Given the description of an element on the screen output the (x, y) to click on. 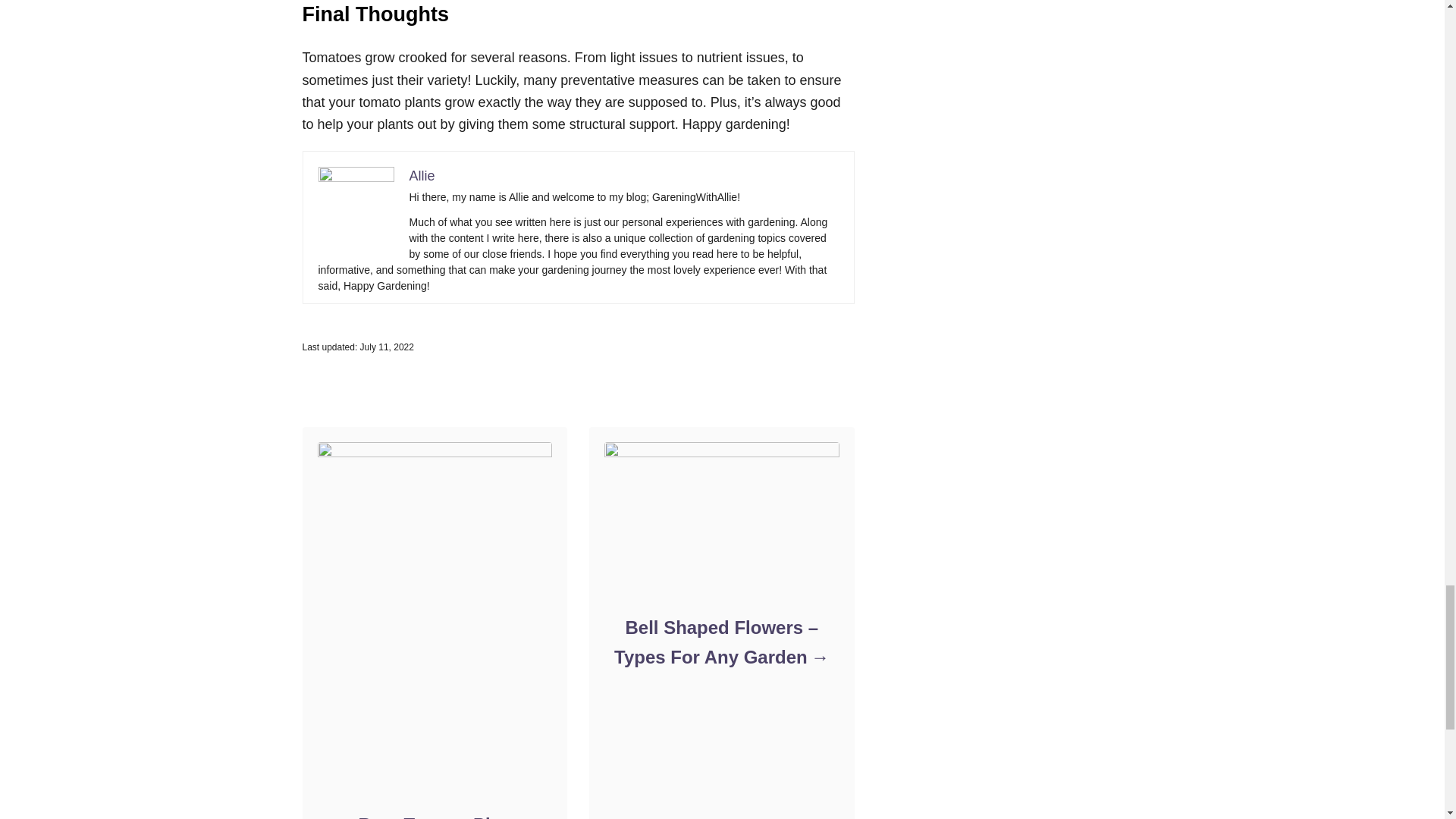
Allie (422, 175)
